Given the description of an element on the screen output the (x, y) to click on. 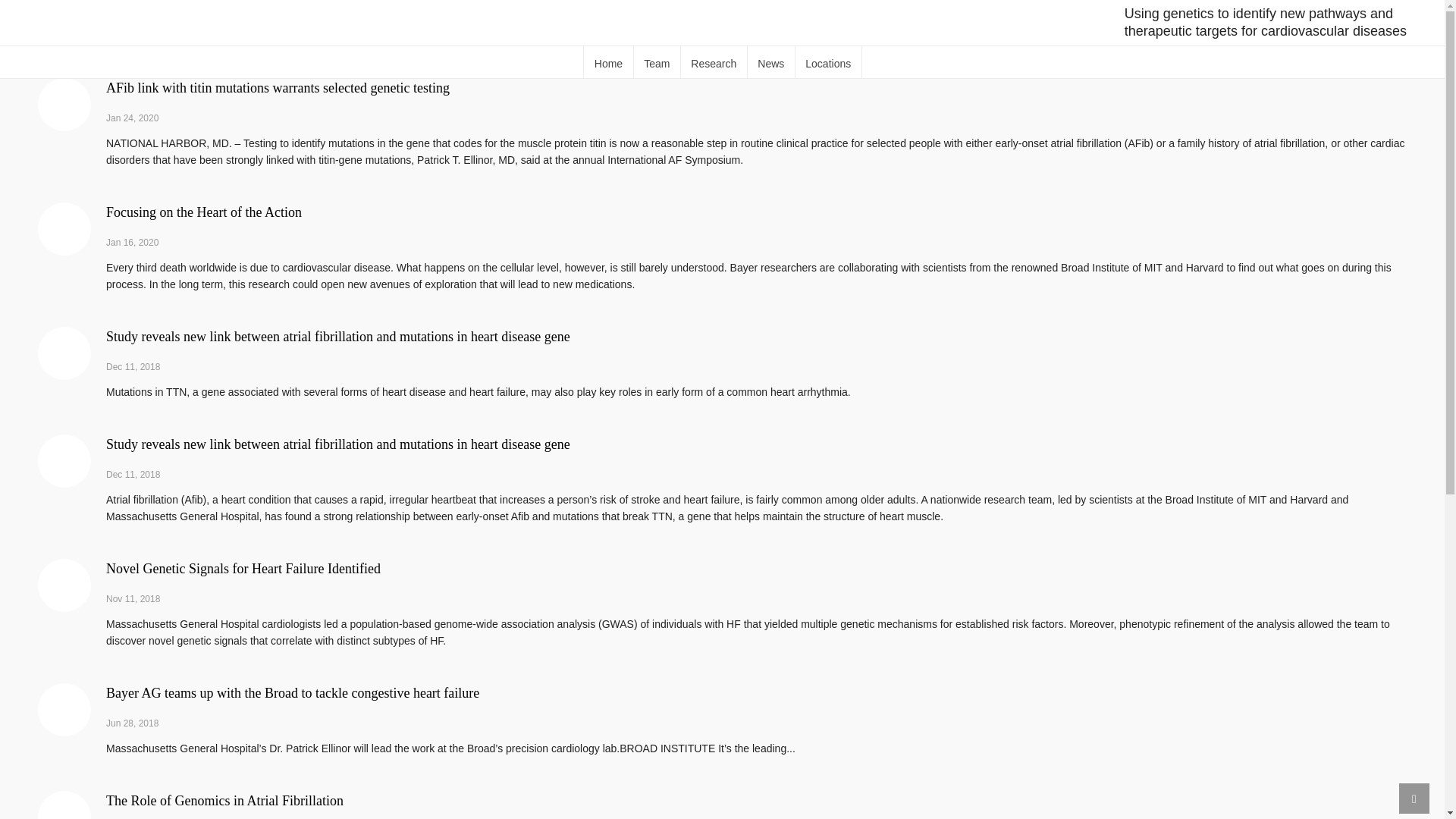
Focusing on the Heart of the Action (203, 212)
The Role of Genomics in Atrial Fibrillation (224, 800)
Novel Genetic Signals for Heart Failure Identified (63, 584)
Team (657, 61)
Locations (827, 61)
News (770, 61)
Novel Genetic Signals for Heart Failure Identified (243, 568)
